Given the description of an element on the screen output the (x, y) to click on. 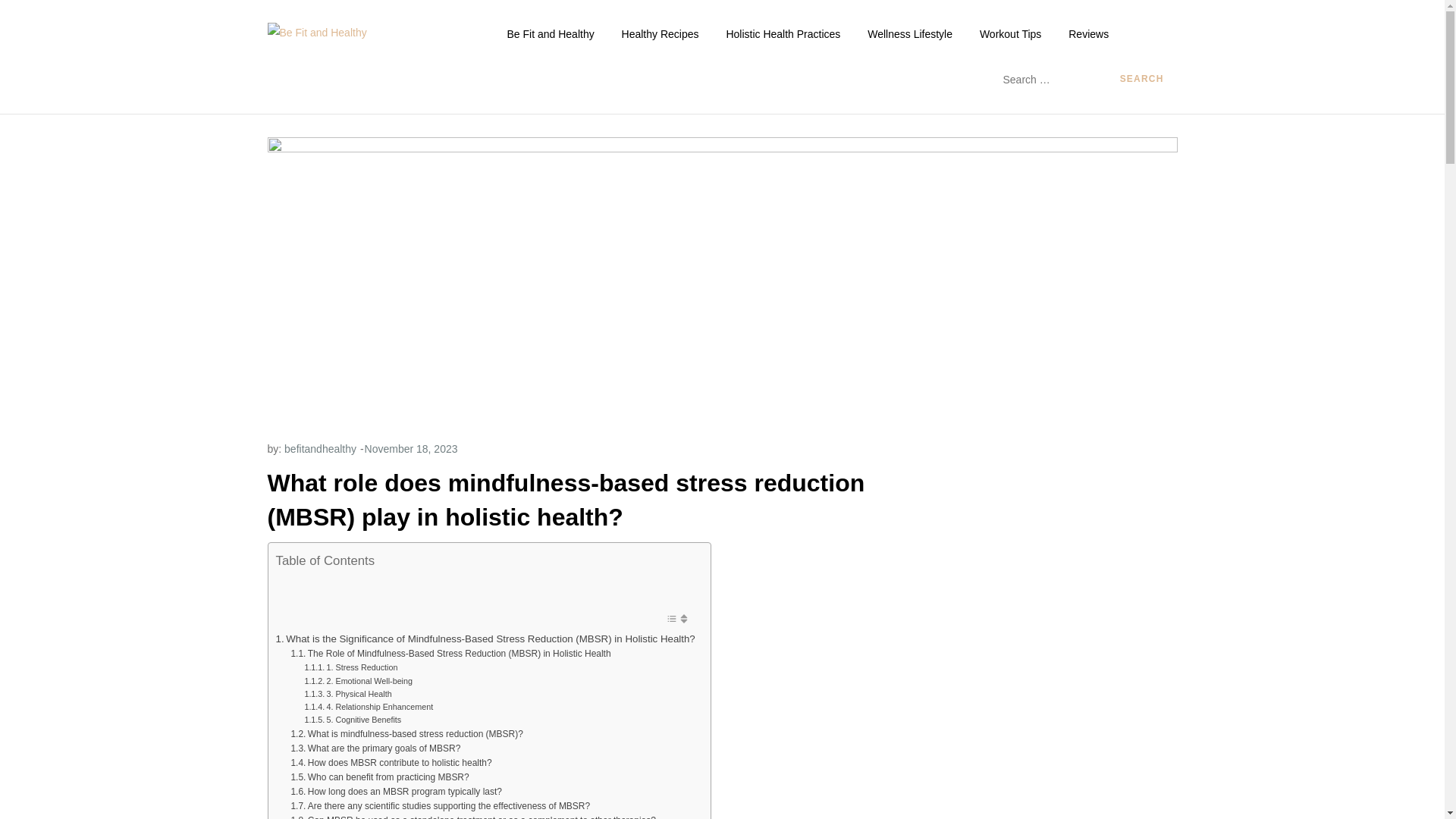
How long does an MBSR program typically last? (394, 791)
5. Cognitive Benefits (352, 719)
1. Stress Reduction (350, 667)
3. Physical Health (347, 694)
November 18, 2023 (411, 449)
Wellness Lifestyle (909, 33)
Reviews (1089, 33)
befitandhealthy (319, 449)
Who can benefit from practicing MBSR? (378, 777)
Who can benefit from practicing MBSR? (378, 777)
How long does an MBSR program typically last? (394, 791)
4. Relationship Enhancement (368, 707)
How does MBSR contribute to holistic health? (390, 762)
Workout Tips (1010, 33)
